Given the description of an element on the screen output the (x, y) to click on. 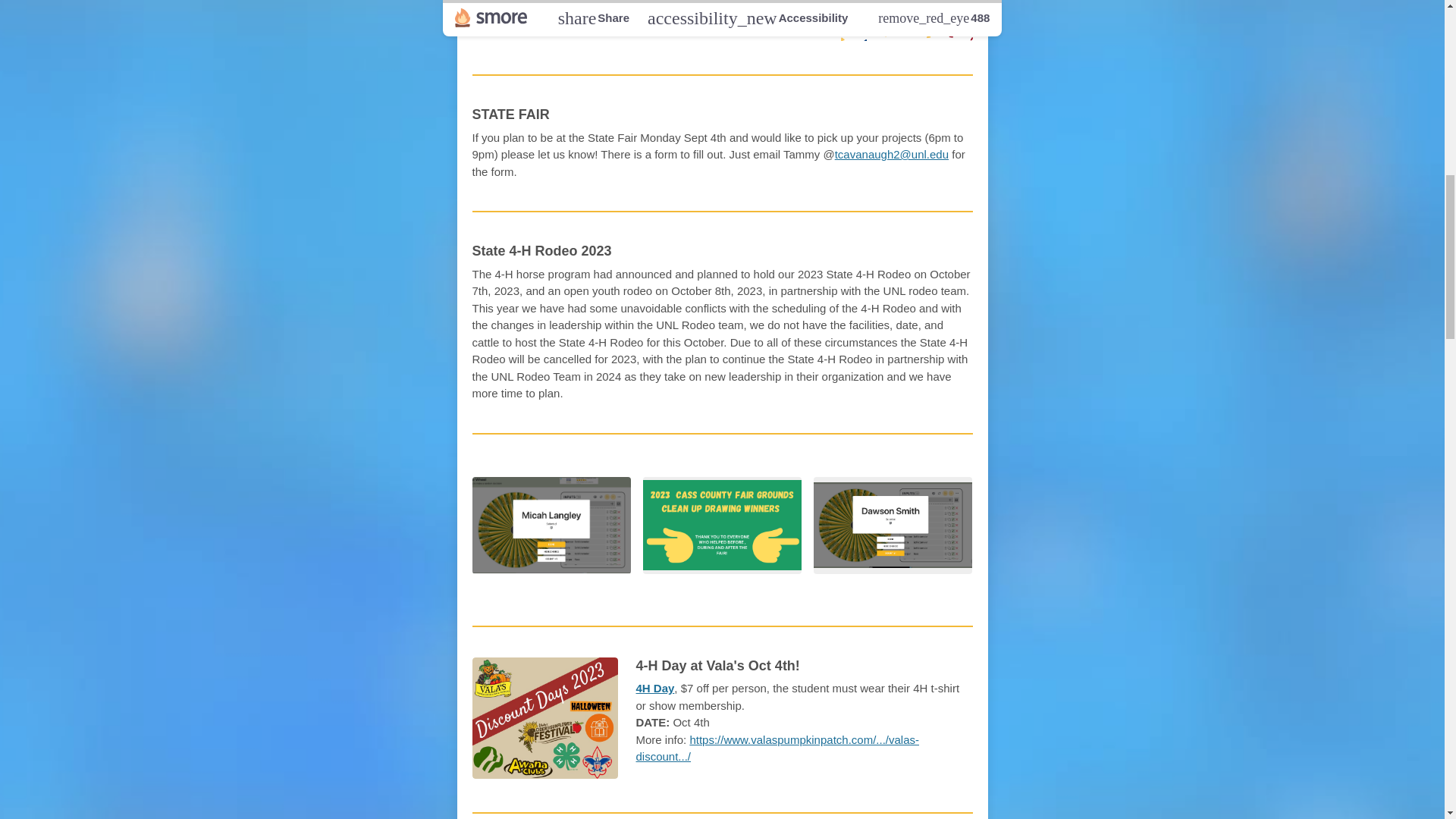
4H Day (654, 687)
